Given the description of an element on the screen output the (x, y) to click on. 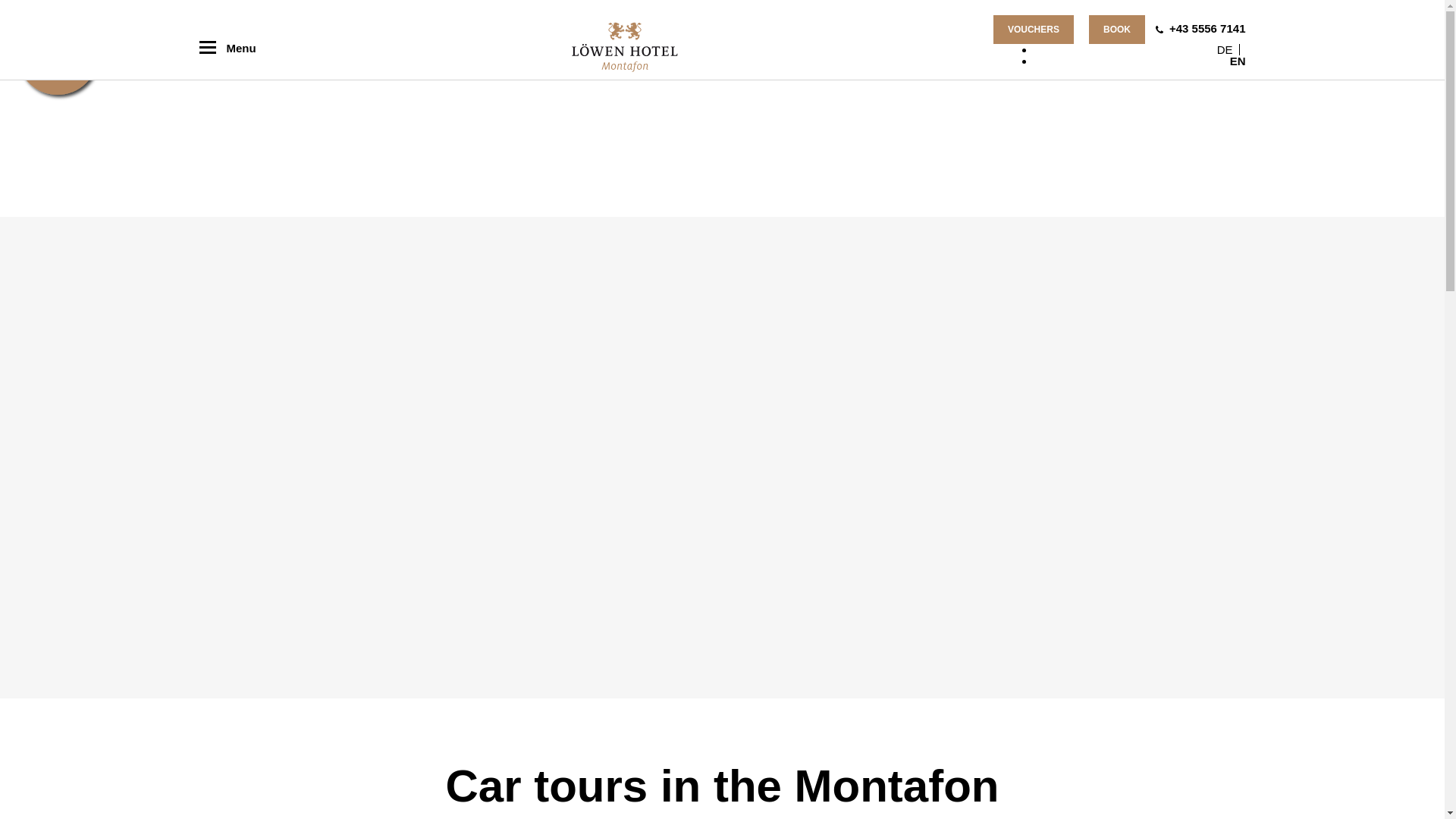
Menu (227, 46)
DE (1225, 49)
Vouchers (1033, 29)
DE (1225, 49)
VOUCHERS (1033, 29)
EN (1238, 60)
EN (1238, 60)
BOOK (1116, 29)
Book (1116, 29)
